Given the description of an element on the screen output the (x, y) to click on. 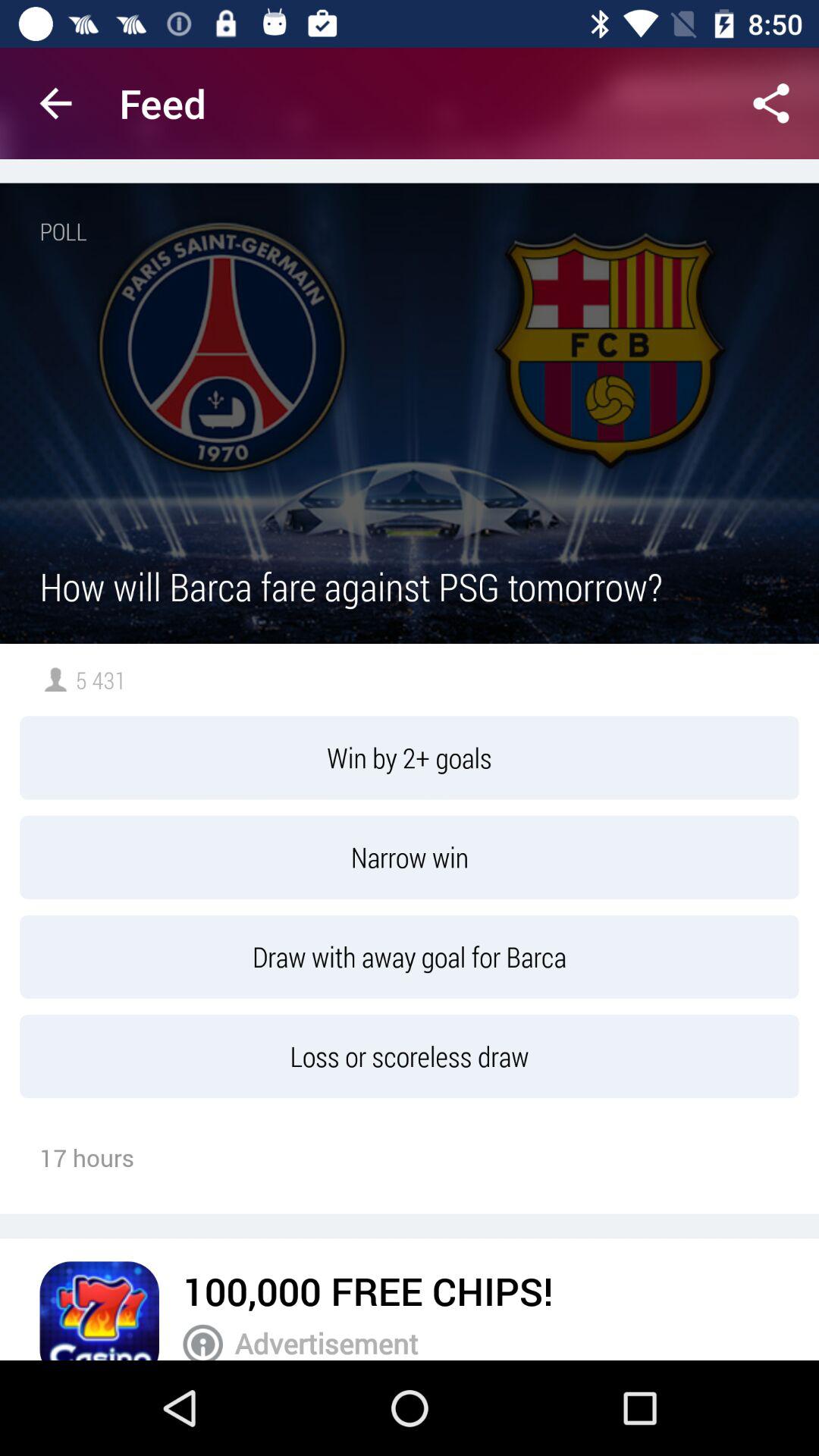
go to app (99, 1310)
